Given the description of an element on the screen output the (x, y) to click on. 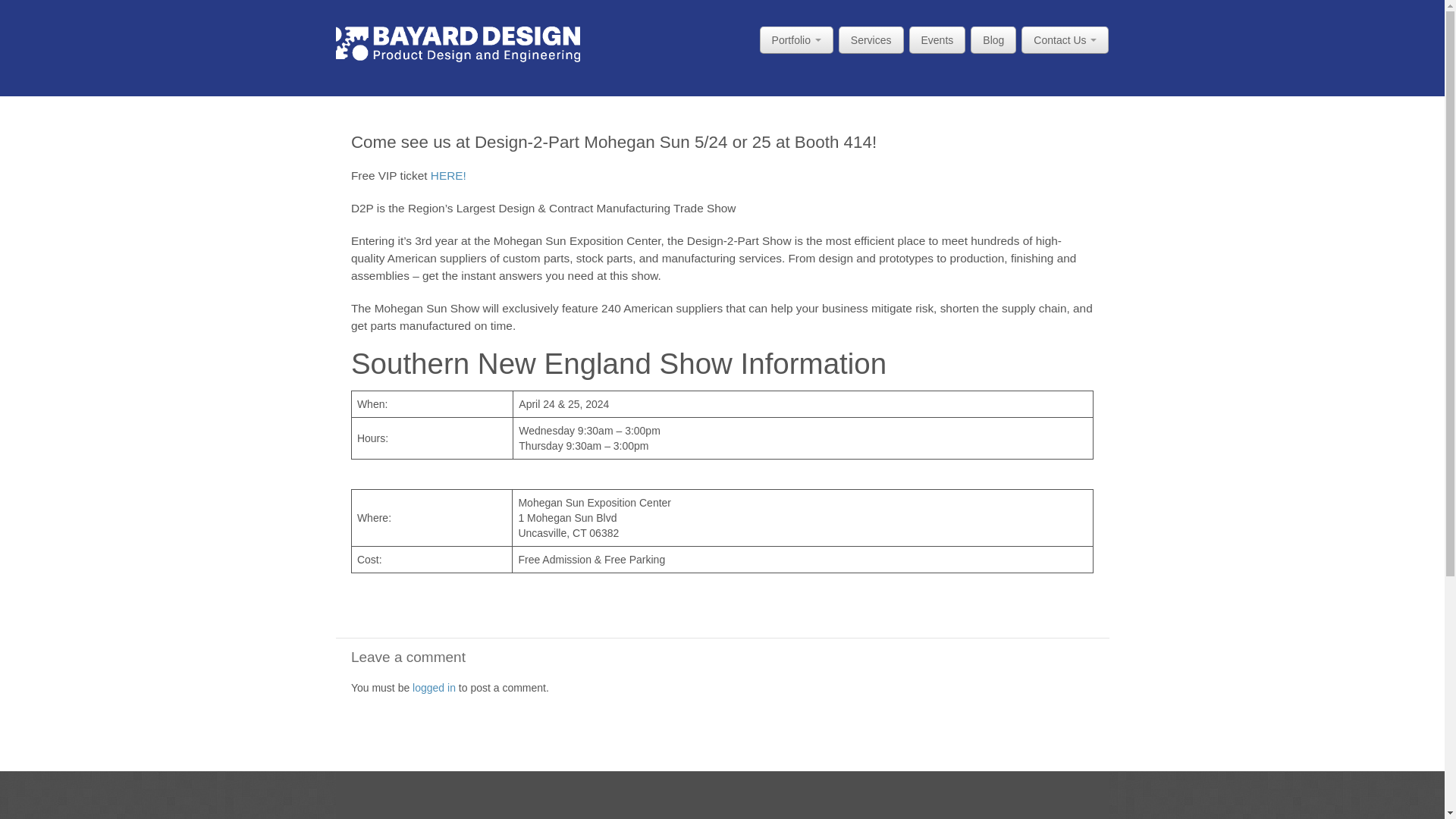
Services (871, 40)
HERE (447, 174)
logged in (433, 687)
Events (936, 40)
Bayard Design (456, 42)
Portfolio (796, 40)
Contact Us (1065, 40)
HERE! (447, 174)
Blog (993, 40)
